Given the description of an element on the screen output the (x, y) to click on. 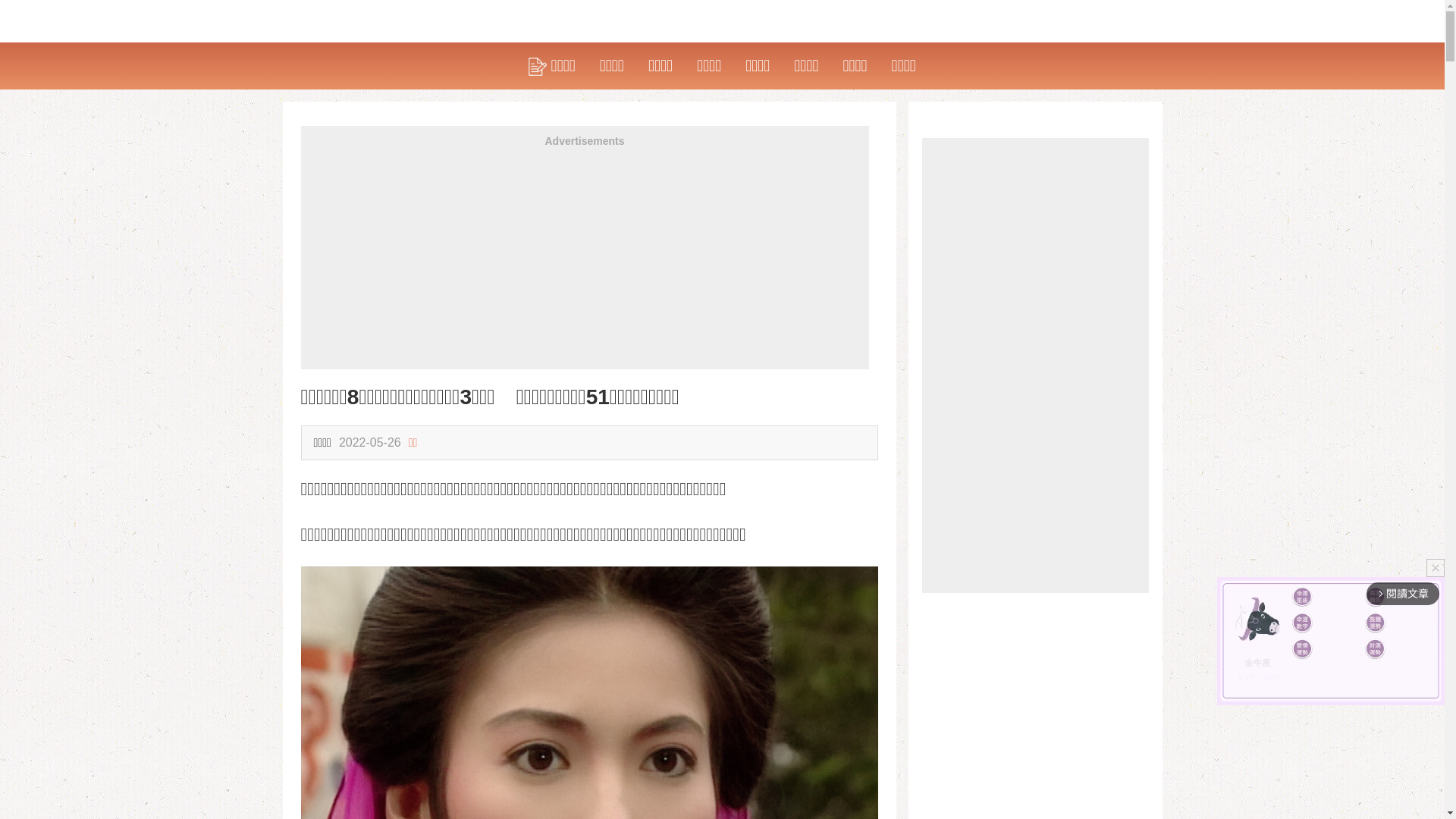
Advertisement Element type: hover (1035, 365)
Advertisement Element type: hover (584, 262)
